Given the description of an element on the screen output the (x, y) to click on. 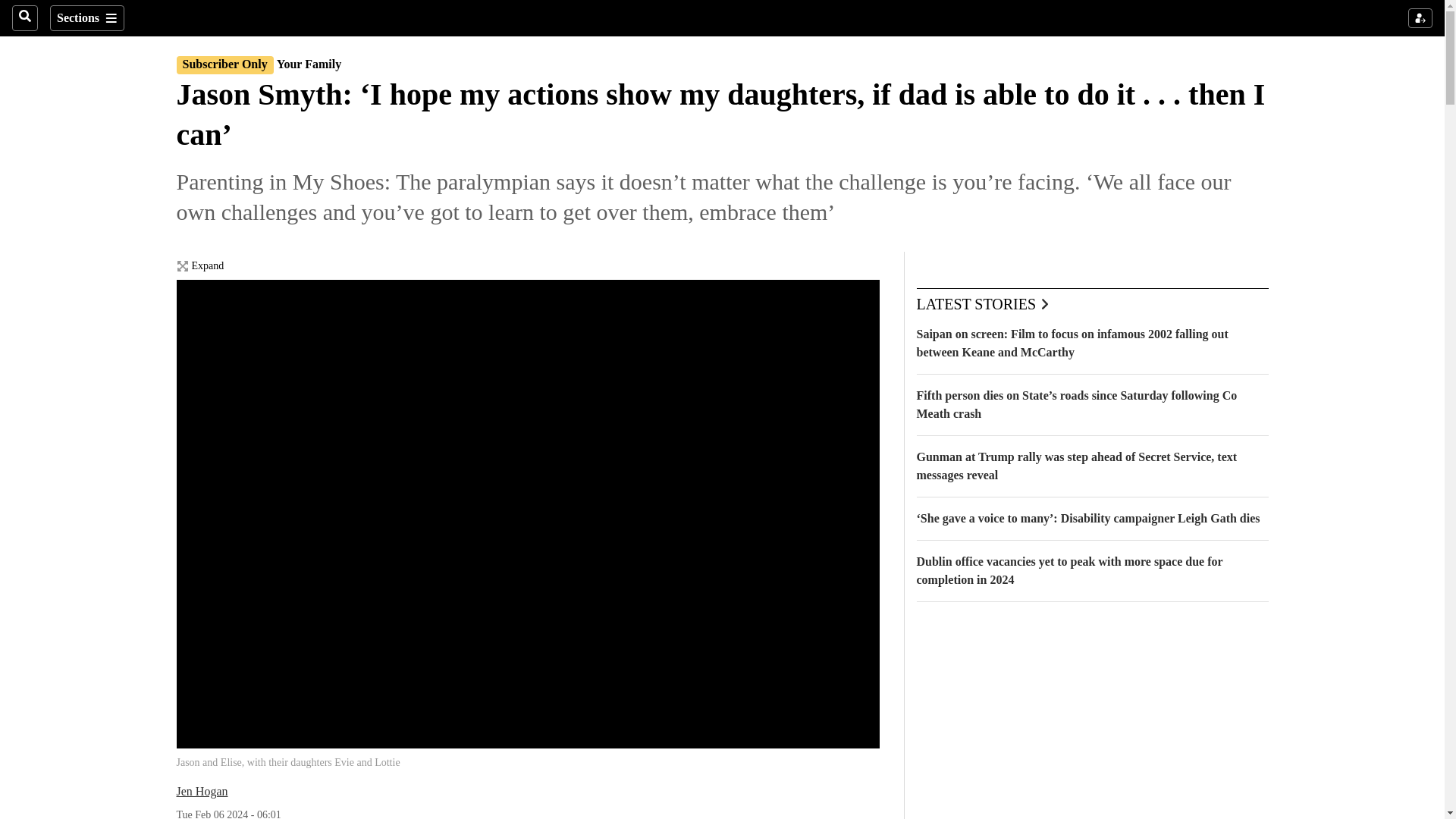
Sections (86, 17)
